Given the description of an element on the screen output the (x, y) to click on. 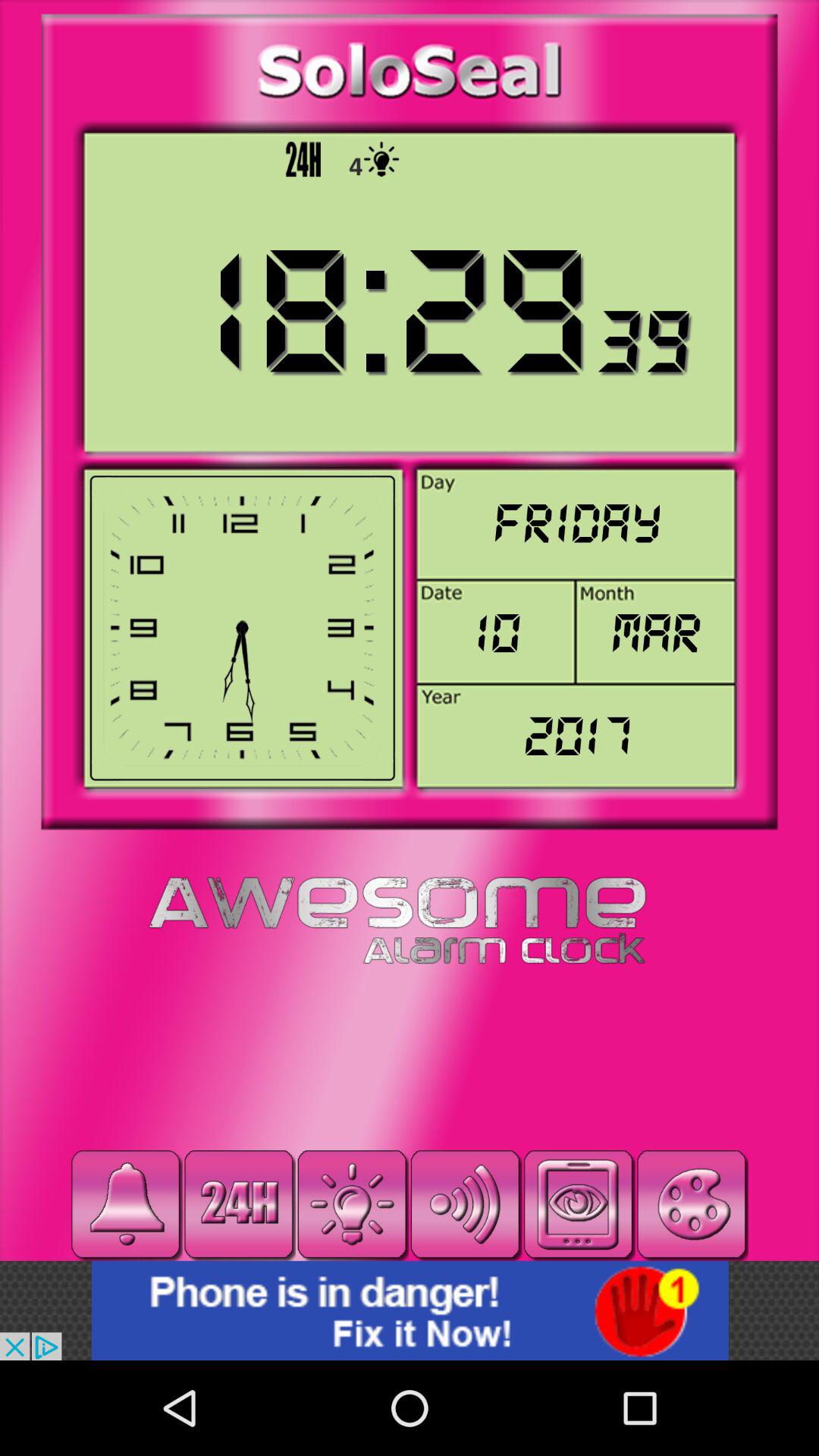
toggle selection (578, 1203)
